Given the description of an element on the screen output the (x, y) to click on. 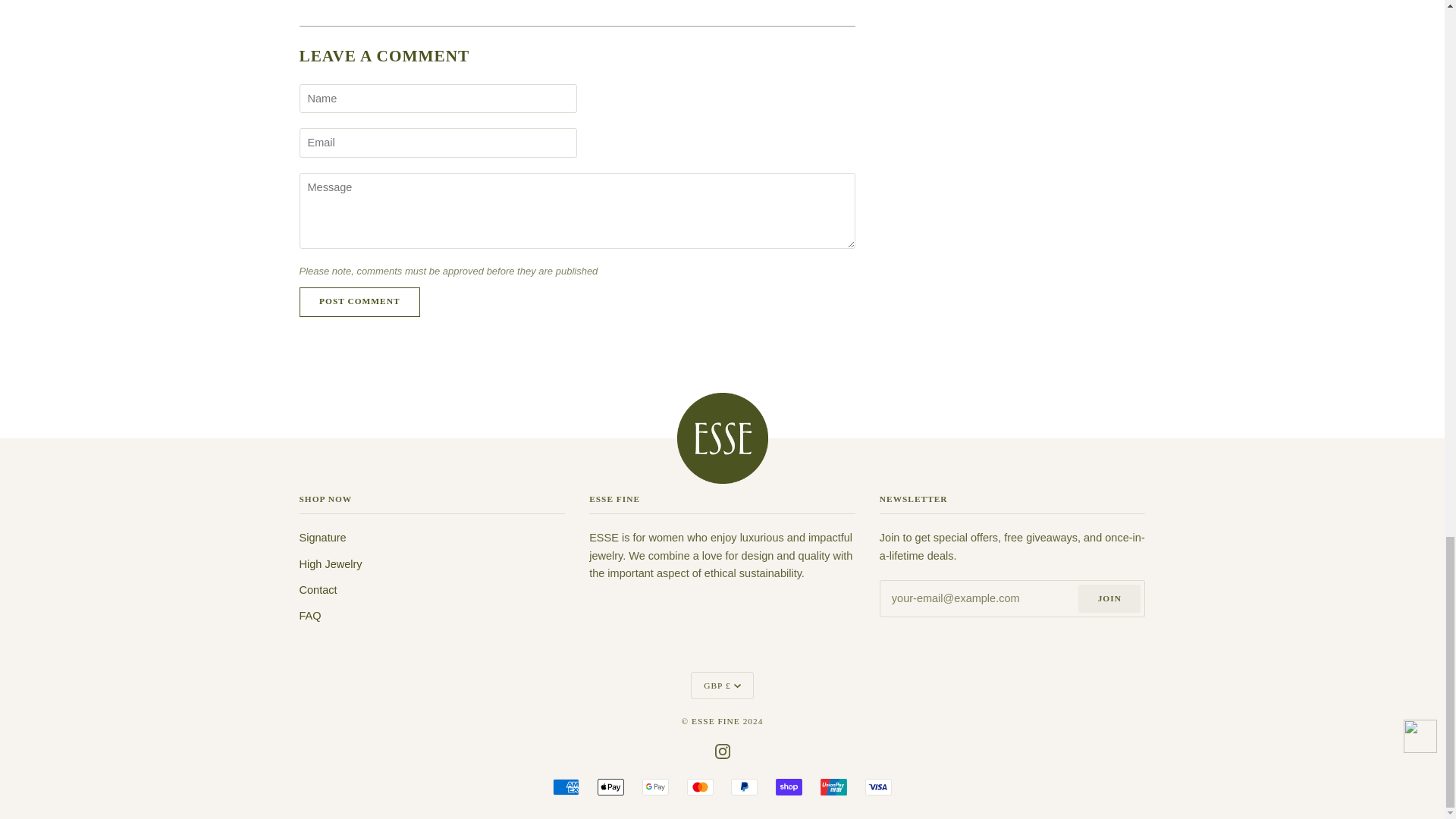
GOOGLE PAY (655, 786)
APPLE PAY (610, 786)
Instagram (721, 750)
PAYPAL (743, 786)
UNION PAY (834, 786)
AMERICAN EXPRESS (566, 786)
MASTERCARD (700, 786)
VISA (877, 786)
SHOP PAY (789, 786)
